Given the description of an element on the screen output the (x, y) to click on. 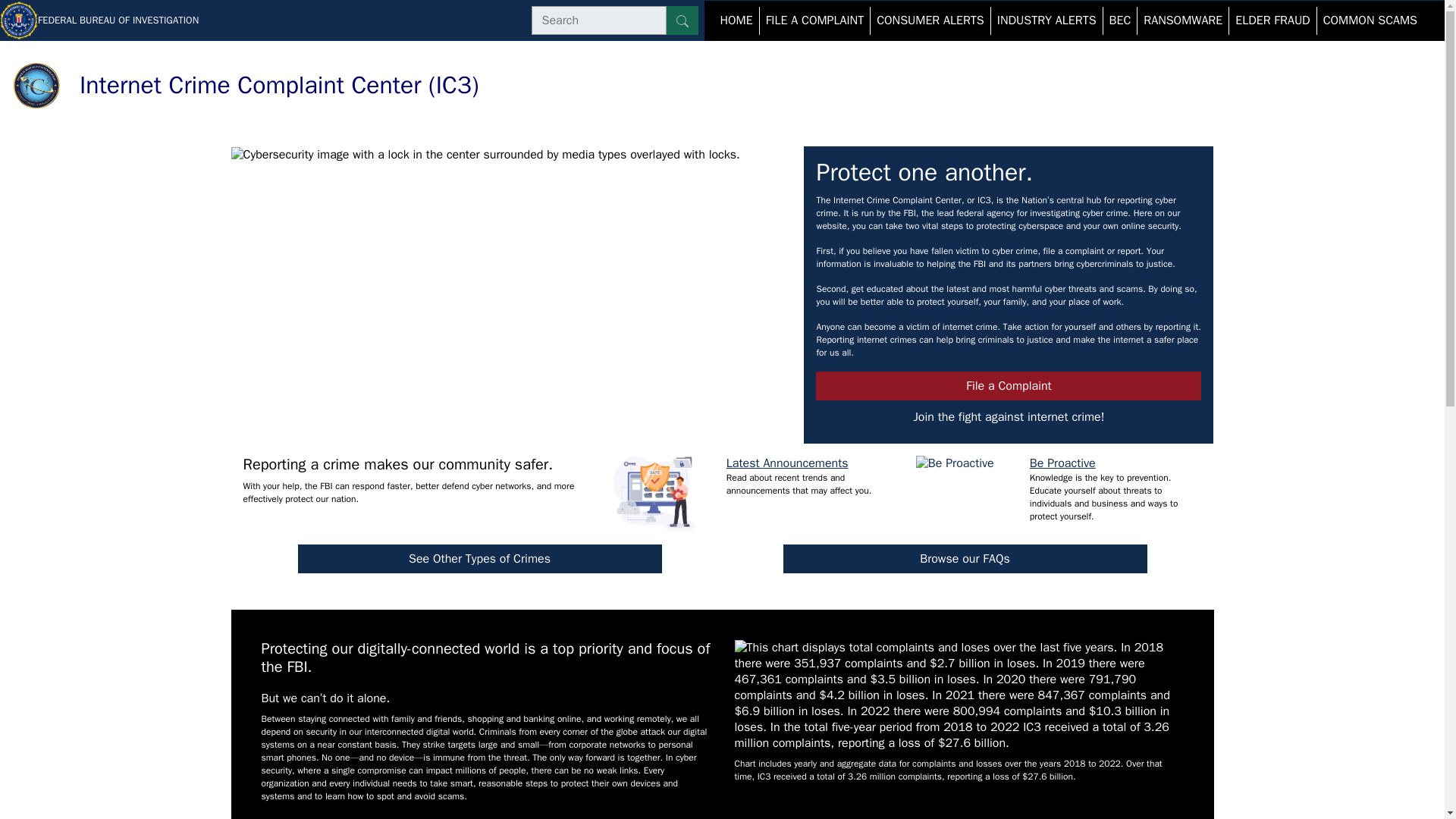
File a Complaint (1008, 385)
Be Proactive (1062, 462)
BEC (1120, 19)
COMMON SCAMS (1370, 19)
FILE A COMPLAINT (815, 19)
HOME (735, 19)
ELDER FRAUD (1272, 19)
CONSUMER ALERTS (930, 19)
RANSOMWARE (1182, 19)
See Other Types of Crimes (479, 558)
Browse our FAQs (965, 558)
INDUSTRY ALERTS (1046, 19)
FEDERAL BUREAU OF INVESTIGATION (99, 20)
Latest Announcements (787, 462)
